Given the description of an element on the screen output the (x, y) to click on. 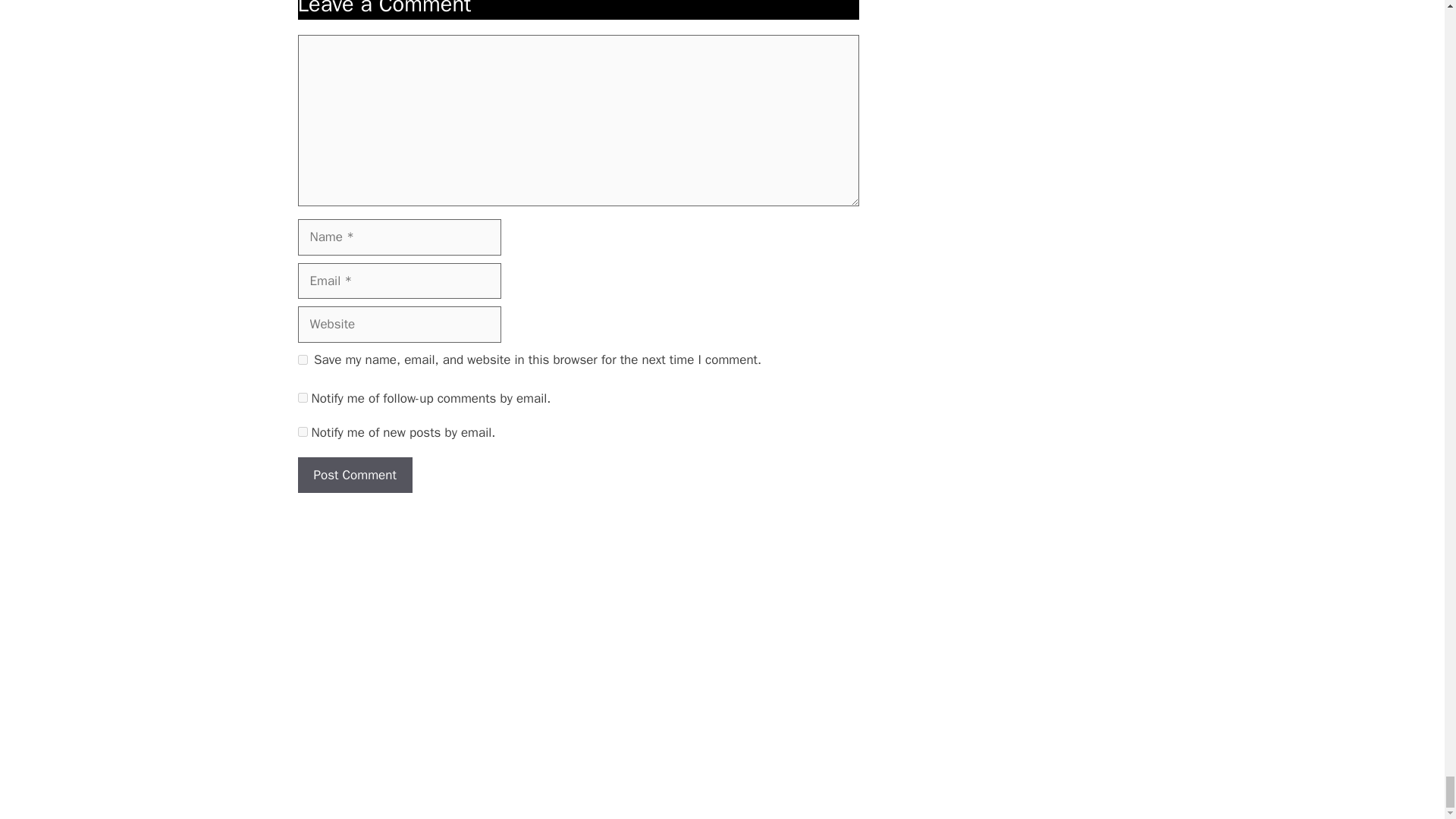
subscribe (302, 431)
subscribe (302, 397)
Post Comment (354, 475)
yes (302, 359)
